Given the description of an element on the screen output the (x, y) to click on. 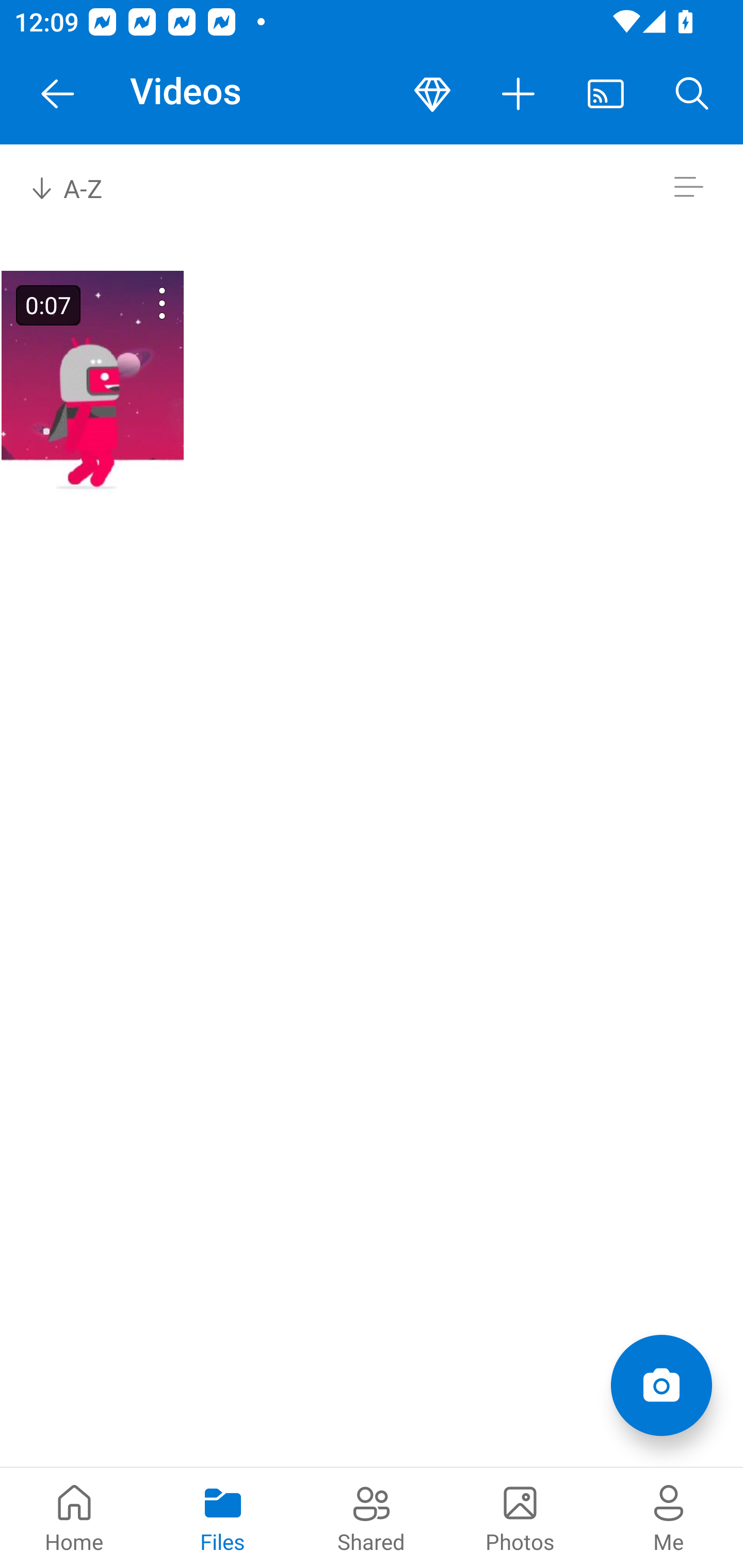
Navigate Up (57, 93)
Cast. Disconnected (605, 93)
Premium button (432, 93)
More actions button (518, 93)
Search button (692, 93)
A-Z Sort by combo box, sort by name, A to Z (80, 187)
Switch to list view (688, 187)
TestVideo commands (136, 303)
Add items Scan (660, 1385)
Home pivot Home (74, 1517)
Shared pivot Shared (371, 1517)
Photos pivot Photos (519, 1517)
Me pivot Me (668, 1517)
